Given the description of an element on the screen output the (x, y) to click on. 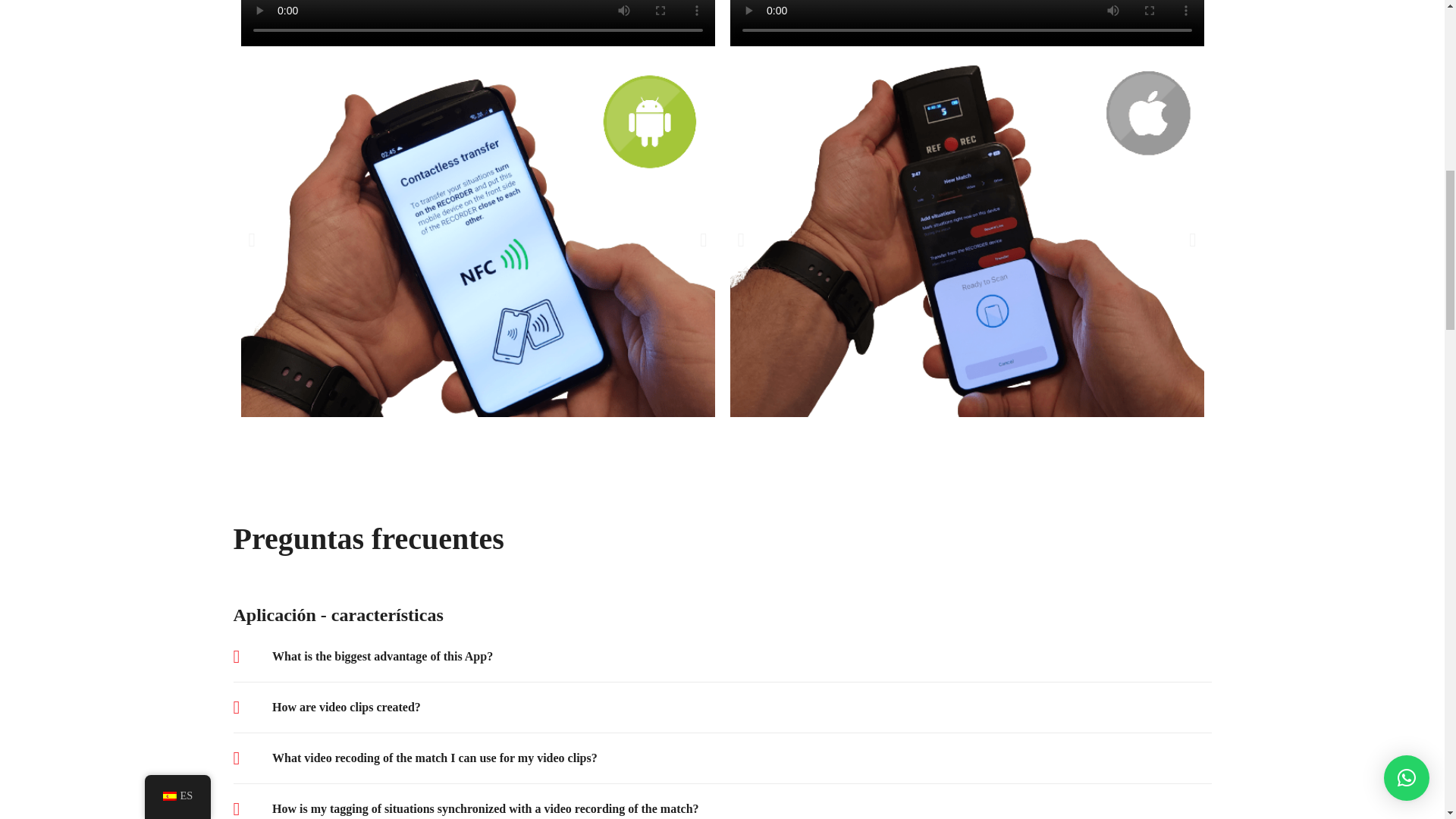
How are video clips created? (346, 707)
What is the biggest advantage of this App? (382, 656)
